Given the description of an element on the screen output the (x, y) to click on. 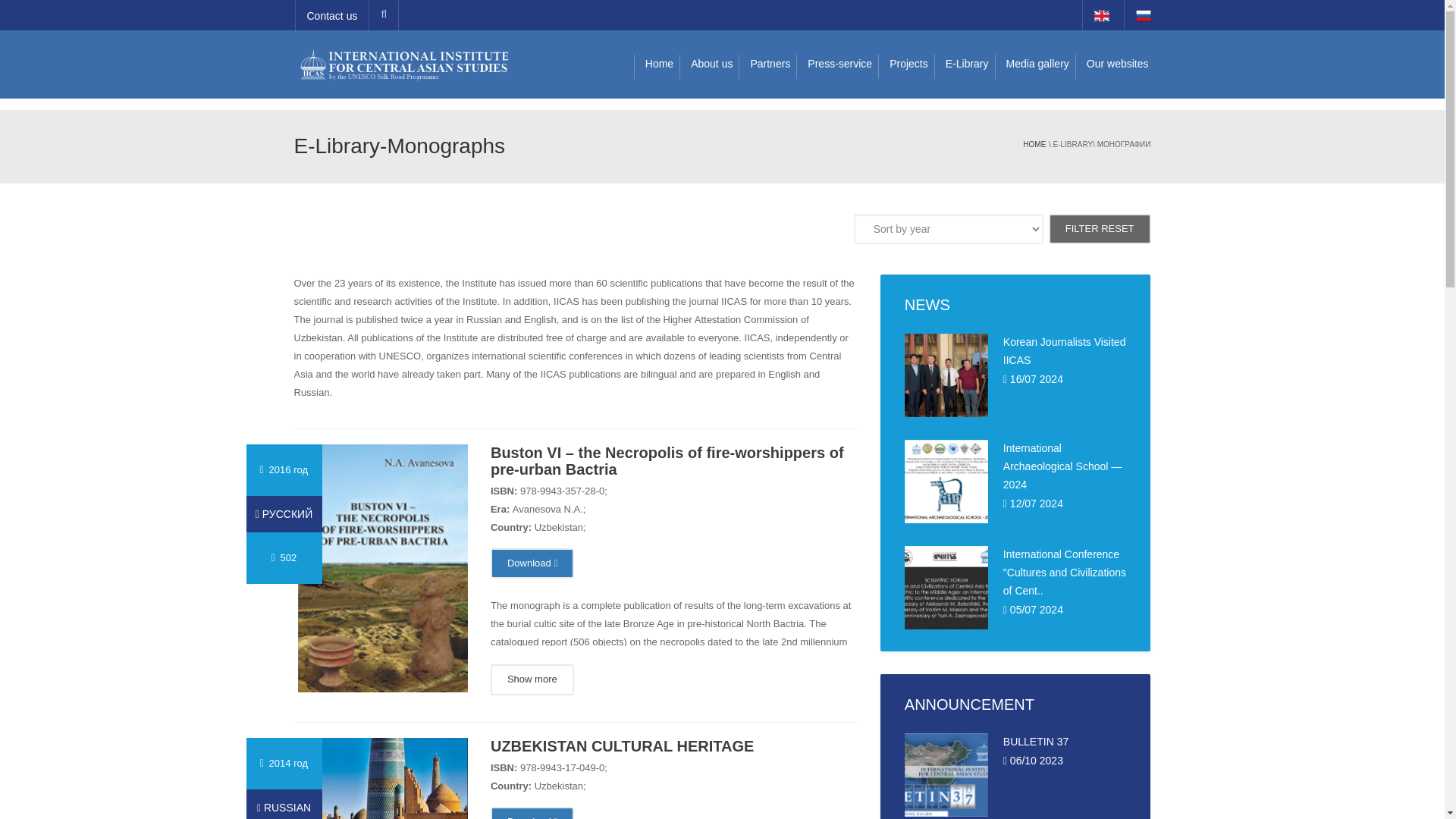
Contact us (331, 15)
Projects (905, 51)
en (1101, 15)
HOME (1034, 144)
Press-service (836, 51)
Our websites (1114, 51)
ru (1143, 15)
E-Library (964, 51)
About us (708, 51)
Partners (767, 51)
Media gallery (1034, 51)
Home (656, 51)
